Given the description of an element on the screen output the (x, y) to click on. 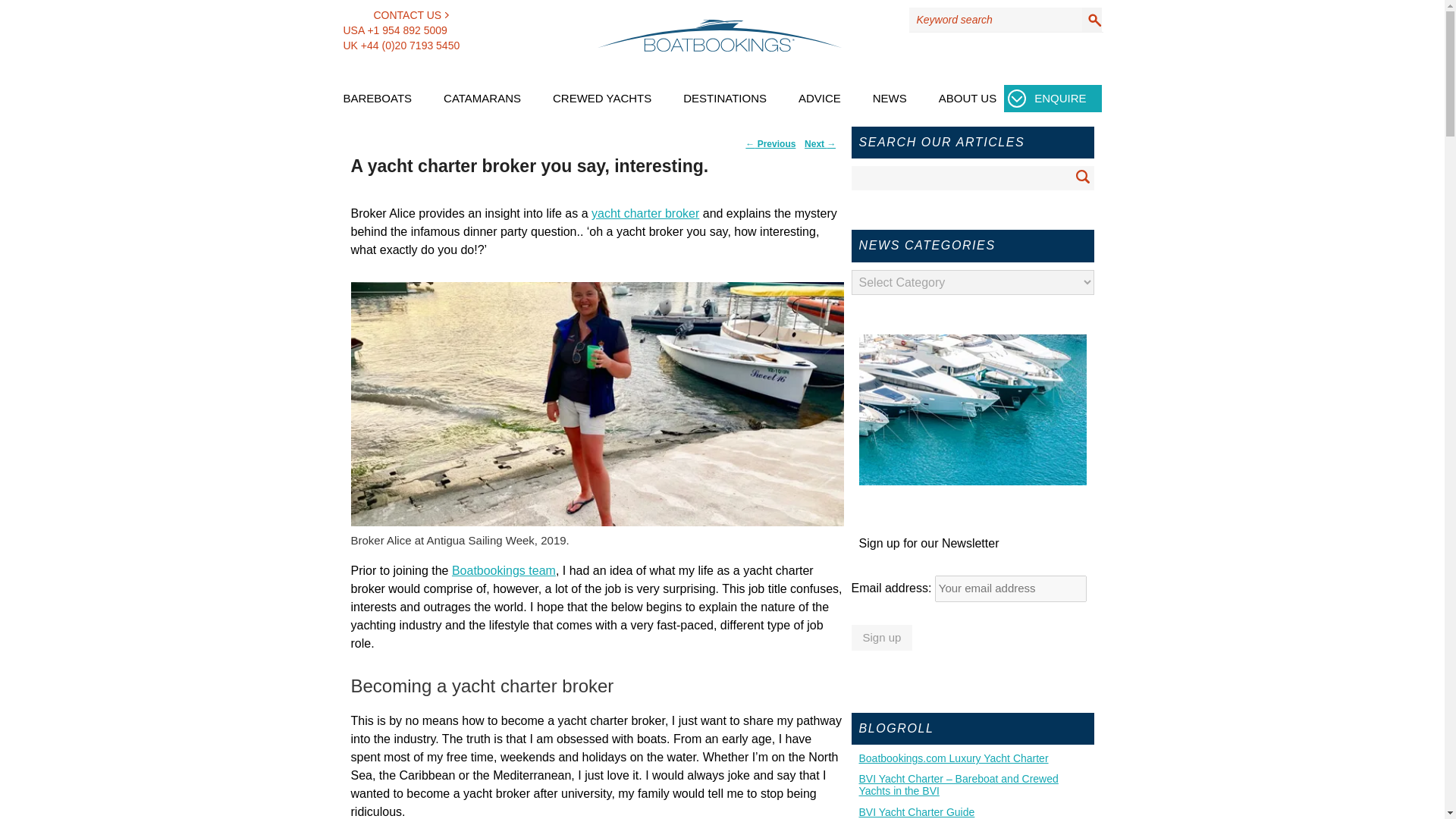
ADVICE (819, 105)
Leading Worldwide Yacht Charter Agent (972, 758)
NEWS (889, 105)
Boatbookings team (503, 570)
BAREBOATS (377, 105)
ABOUT US (967, 105)
Search for: (971, 178)
Search (1082, 177)
Sign up (881, 637)
CONTACT US (395, 14)
yacht charter broker (644, 213)
ENQUIRE (1052, 98)
Boatbookings.com Luxury Yacht Charter (972, 758)
CATAMARANS (482, 105)
